Given the description of an element on the screen output the (x, y) to click on. 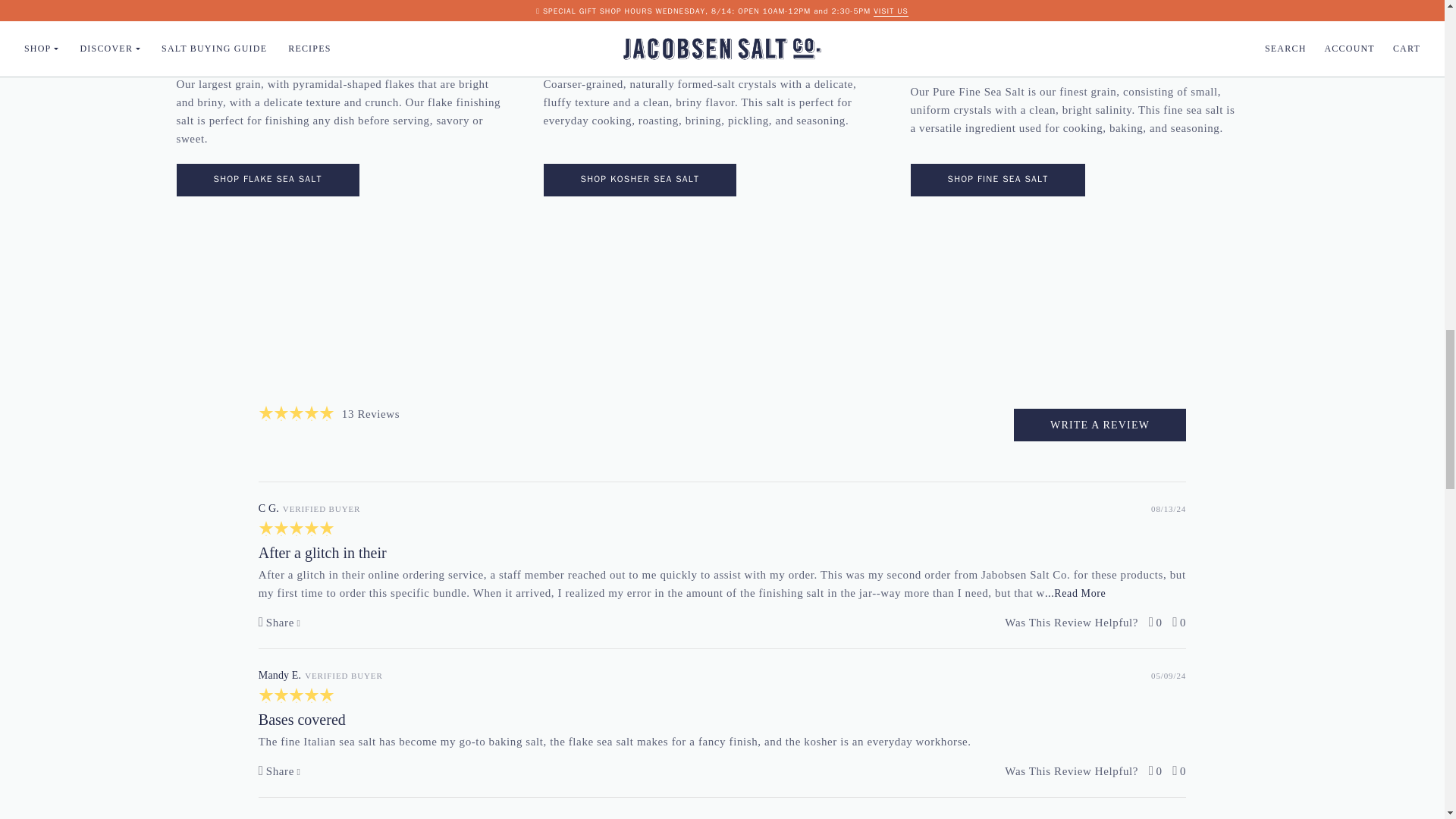
SHOP FLAKE SEA SALT (267, 179)
SHOP KOSHER SEA SALT (639, 179)
SHOP FINE SEA SALT (997, 179)
